Given the description of an element on the screen output the (x, y) to click on. 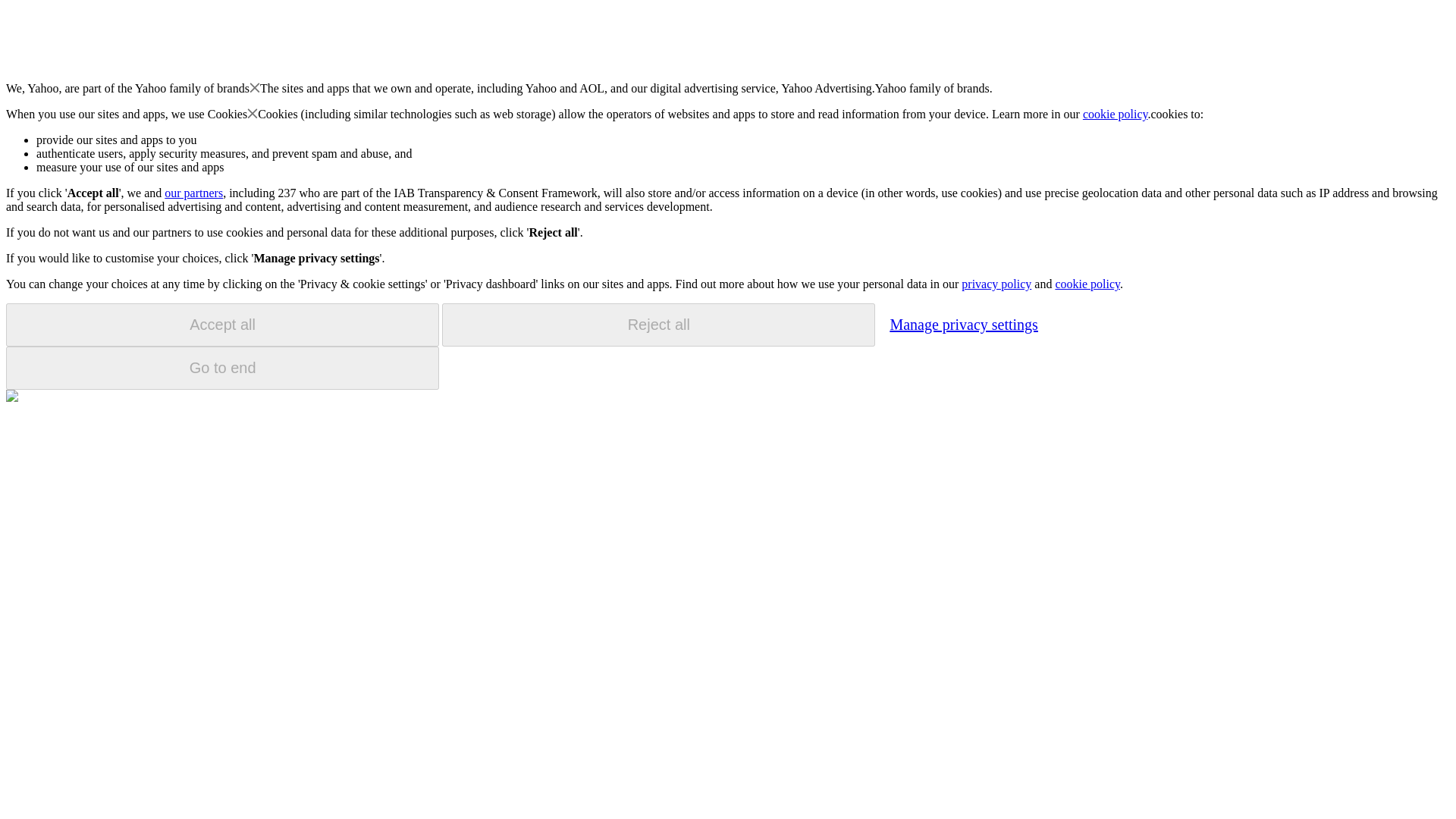
Go to end (222, 367)
Reject all (658, 324)
Accept all (222, 324)
cookie policy (1115, 113)
cookie policy (1086, 283)
privacy policy (995, 283)
Manage privacy settings (963, 323)
our partners (193, 192)
